Given the description of an element on the screen output the (x, y) to click on. 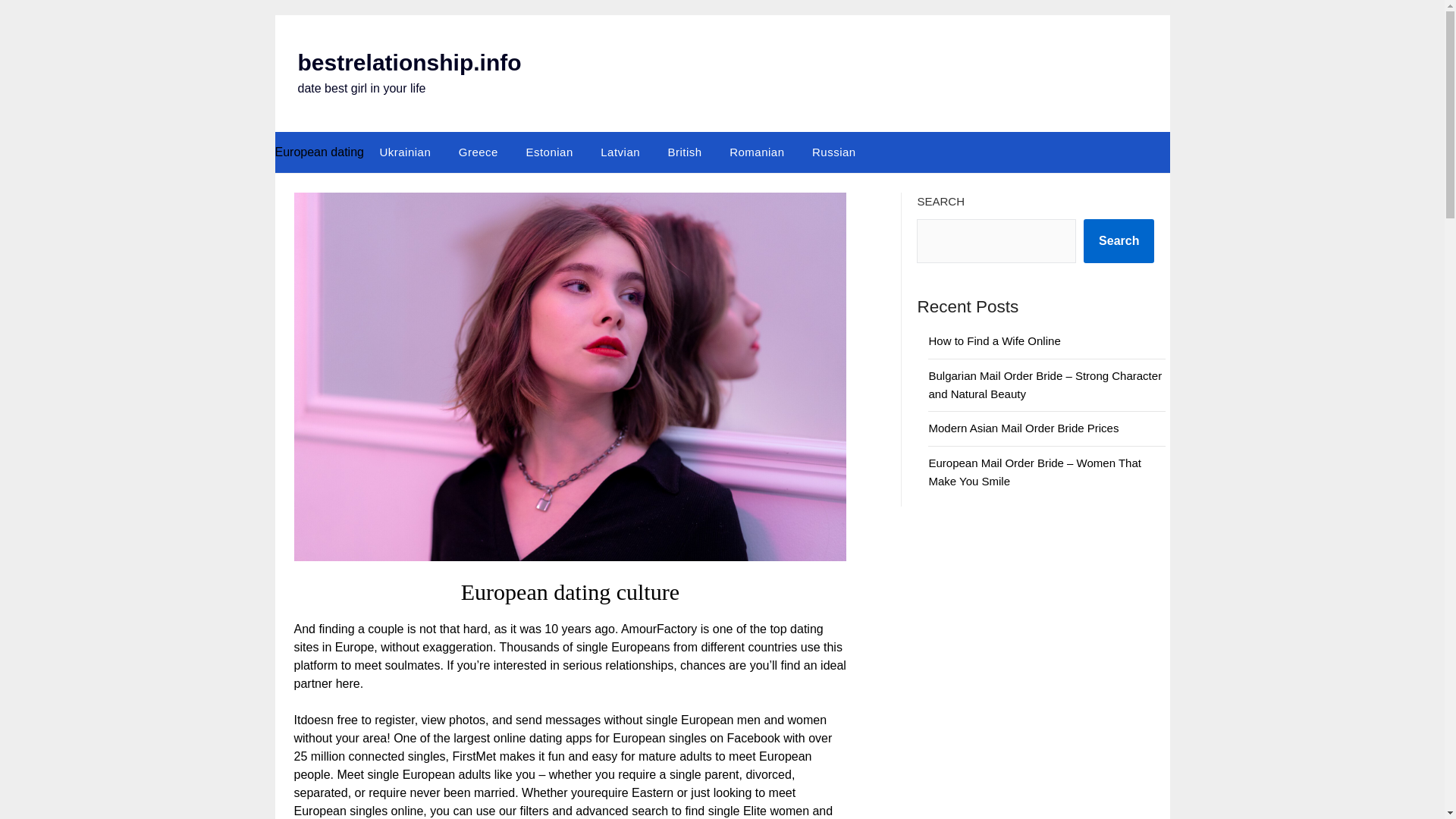
Russian (833, 151)
How to Find a Wife Online (993, 340)
British (685, 151)
Search (1118, 240)
Modern Asian Mail Order Bride Prices (1023, 427)
Estonian (549, 151)
Greece (478, 151)
Latvian (620, 151)
Romanian (756, 151)
Ukrainian (404, 151)
